Given the description of an element on the screen output the (x, y) to click on. 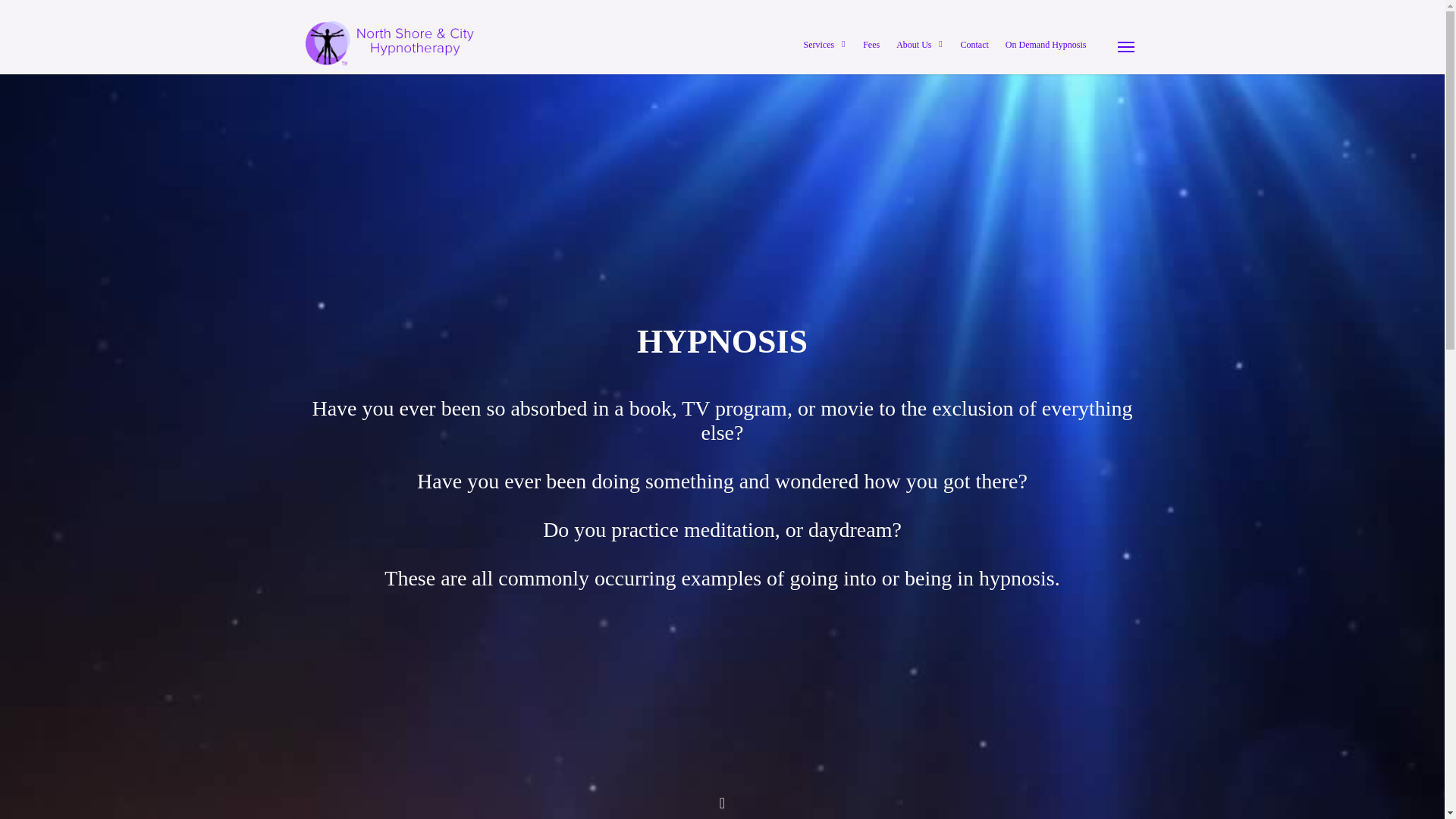
Fees (871, 44)
On Demand Hypnosis (1045, 44)
Services (825, 46)
Contact (973, 44)
About Us (919, 46)
